Given the description of an element on the screen output the (x, y) to click on. 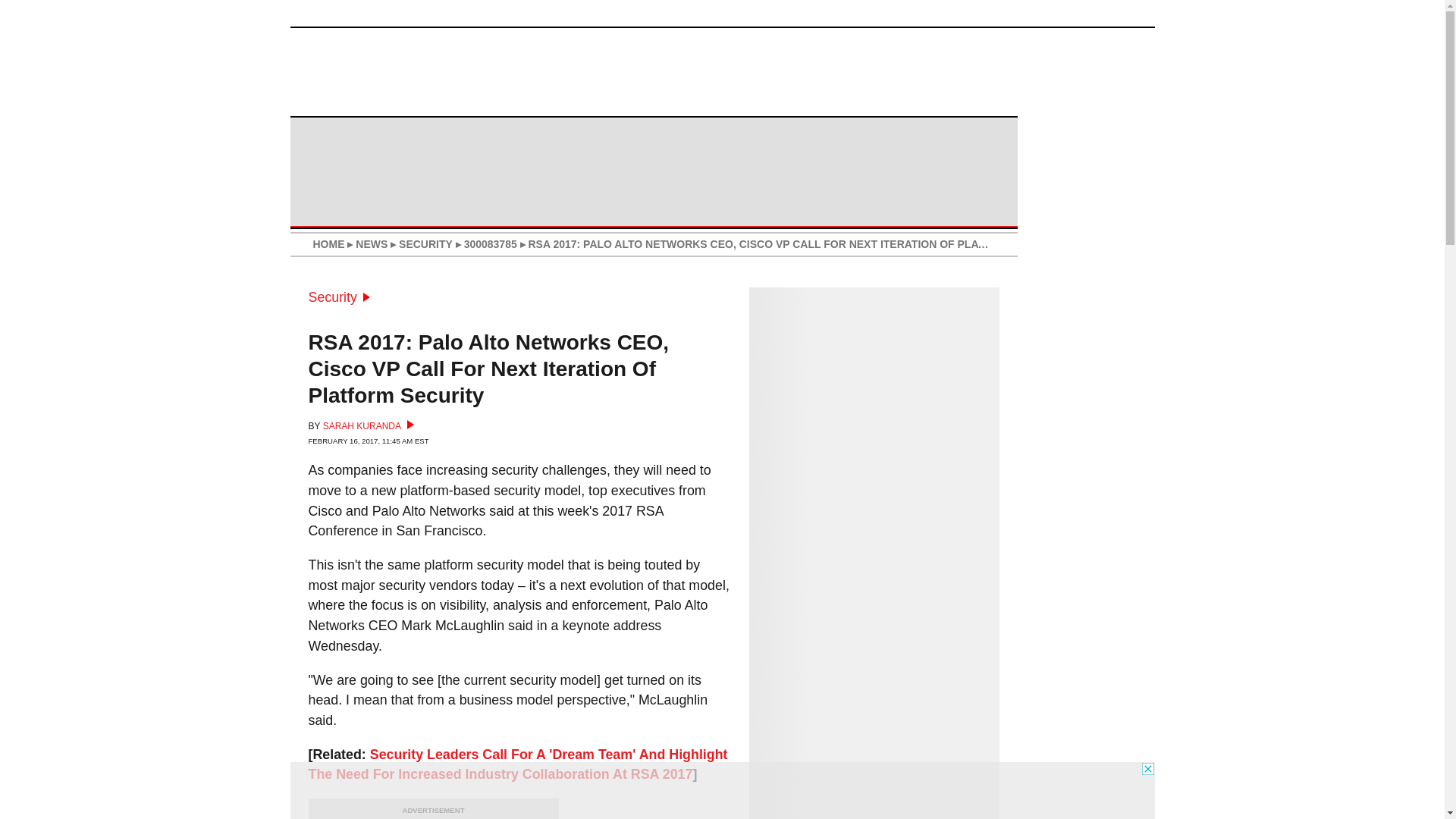
SARAH KURANDA (368, 425)
Security (338, 296)
Security (338, 296)
HOME (328, 244)
